Given the description of an element on the screen output the (x, y) to click on. 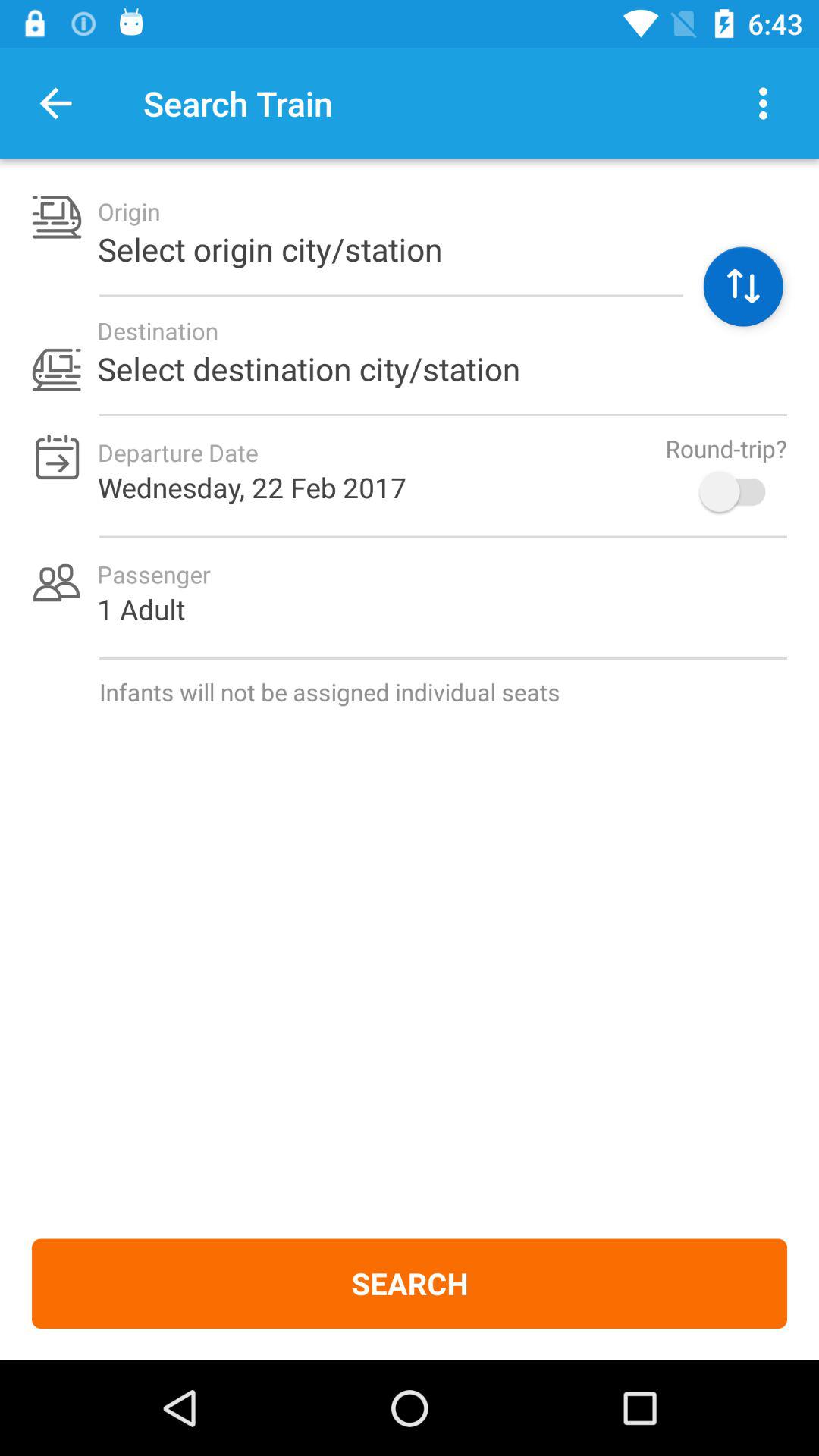
tap item to the left of search train item (55, 103)
